Given the description of an element on the screen output the (x, y) to click on. 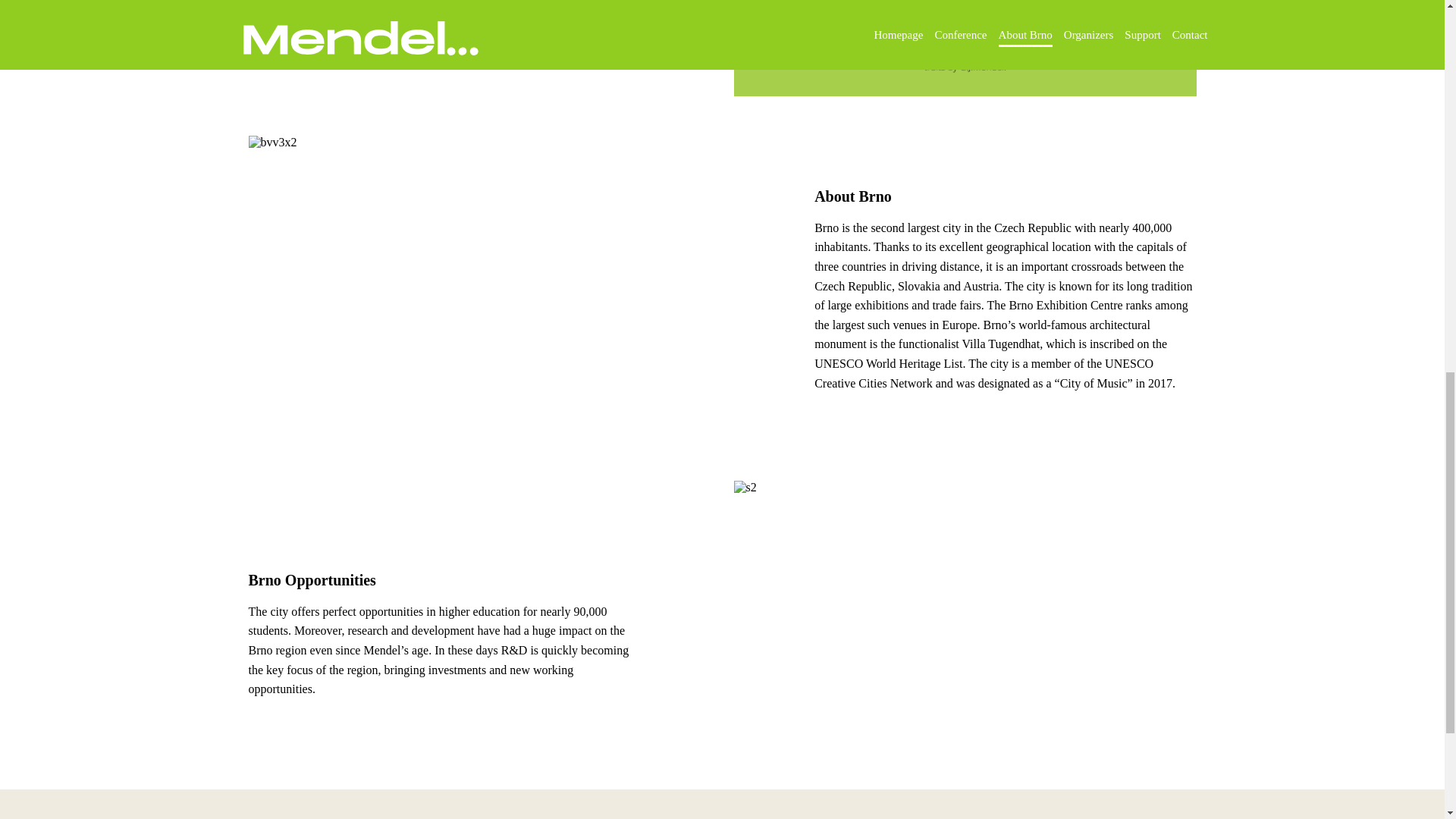
s1 (964, 48)
